Given the description of an element on the screen output the (x, y) to click on. 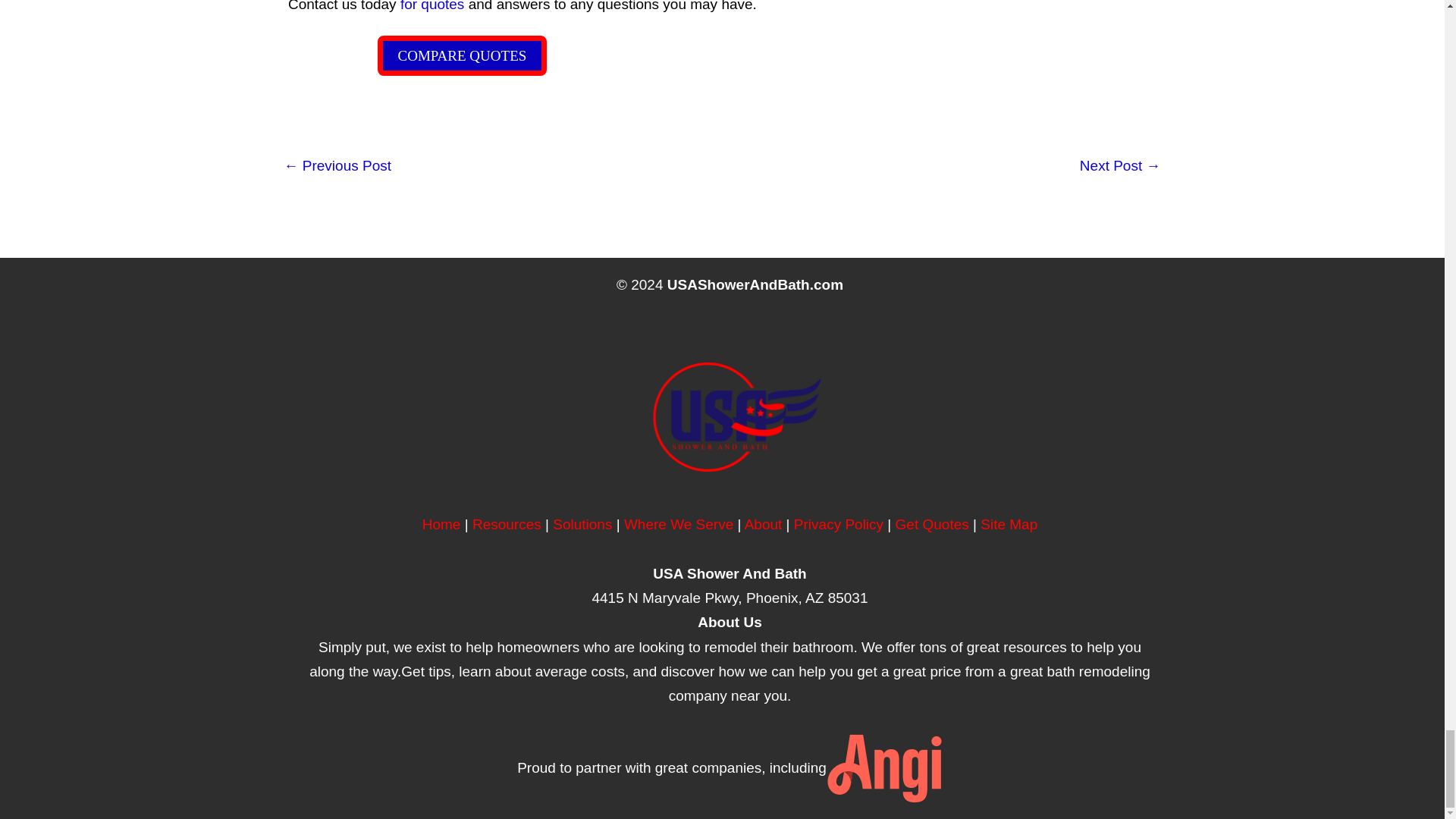
Where We Serve (678, 524)
Tub to Shower Conversion Cost (1120, 166)
About (763, 524)
Solutions (582, 524)
Get Quotes (932, 524)
USA Shower And bath (441, 524)
23 Amazing Bathroom Remodeling Ideas in 2022 (337, 166)
Site Map (1007, 524)
Privacy Policy (838, 524)
Resources (506, 524)
